Given the description of an element on the screen output the (x, y) to click on. 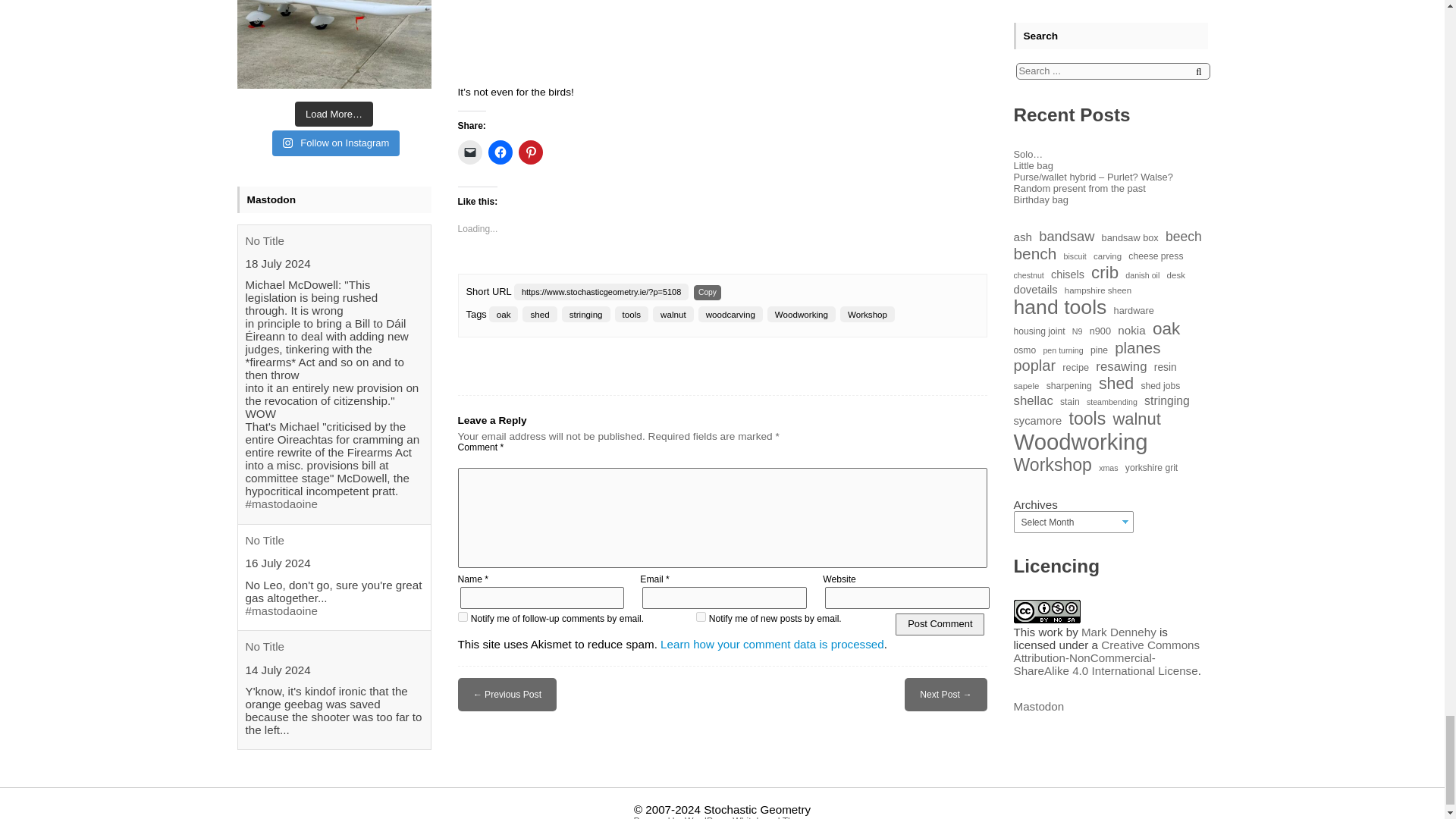
Craft (512, 694)
Click to email a link to a friend (469, 152)
Click to share on Pinterest (530, 152)
Post Comment (939, 624)
Click to share on Facebook (499, 152)
subscribe (700, 616)
subscribe (462, 616)
